Given the description of an element on the screen output the (x, y) to click on. 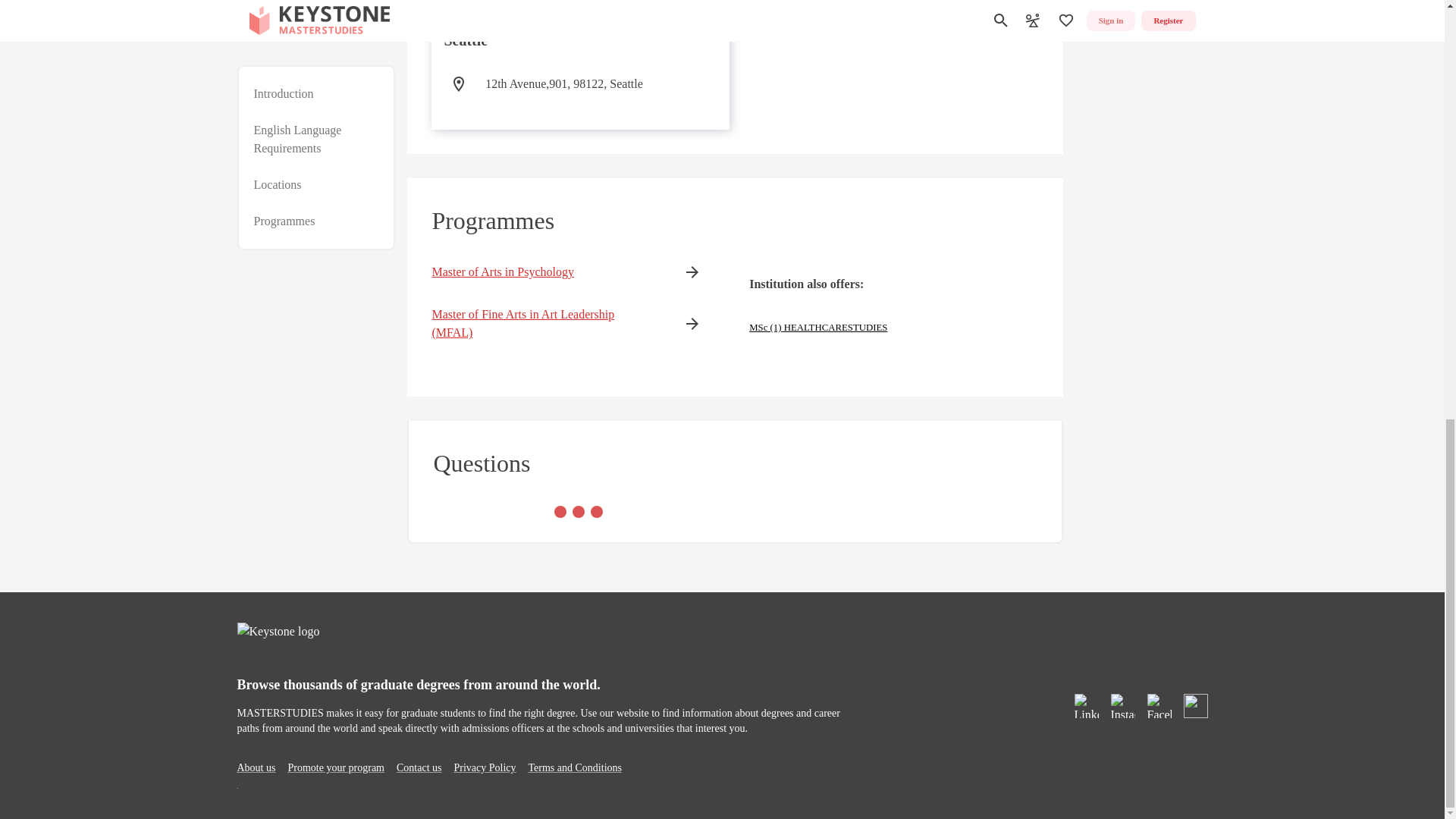
Master of Arts in Psychology (543, 271)
Contact us (419, 767)
Terms and Conditions (574, 767)
Promote your program (335, 767)
Privacy Policy (483, 767)
About us (255, 767)
